Given the description of an element on the screen output the (x, y) to click on. 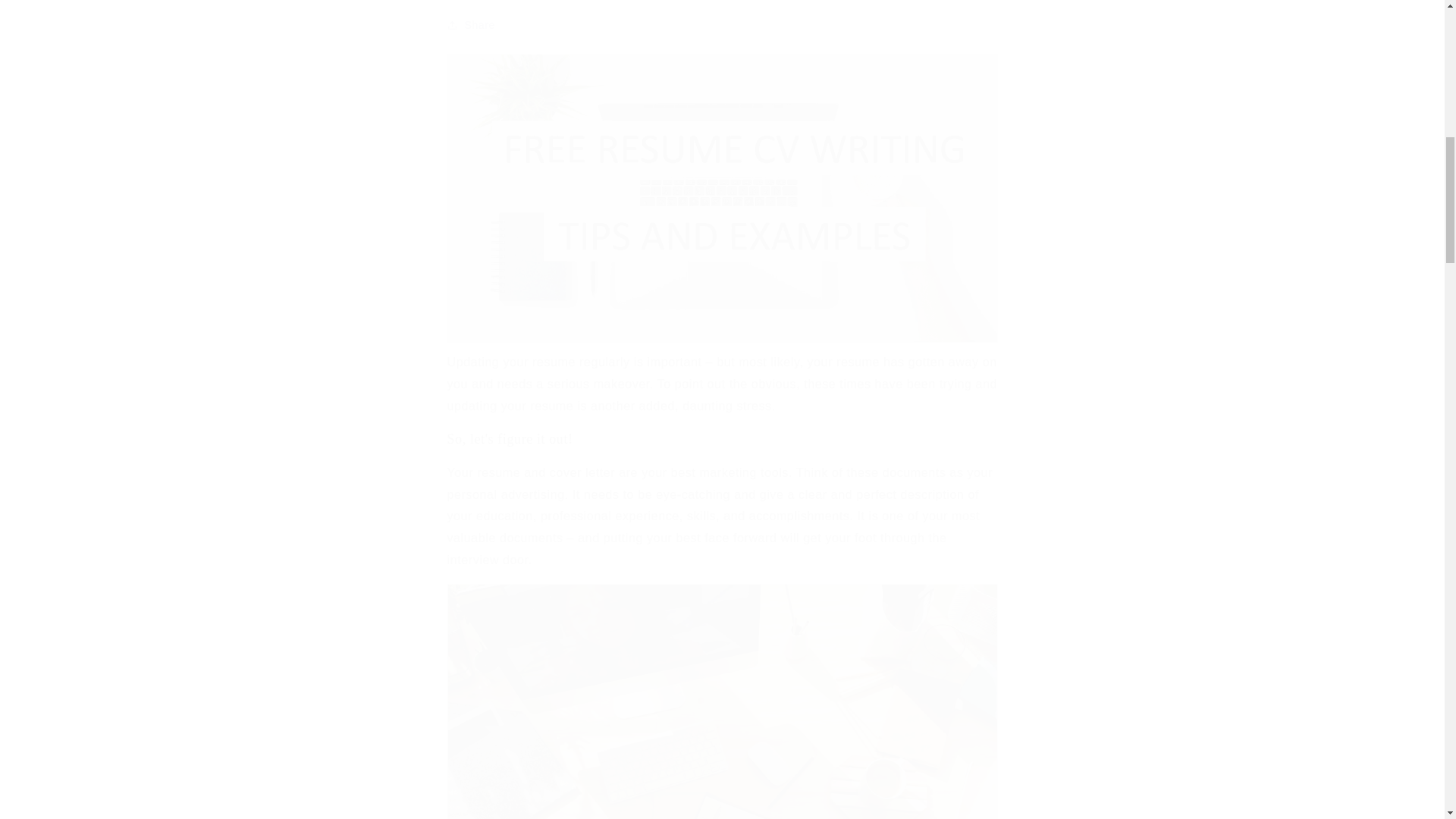
Share (721, 24)
